Given the description of an element on the screen output the (x, y) to click on. 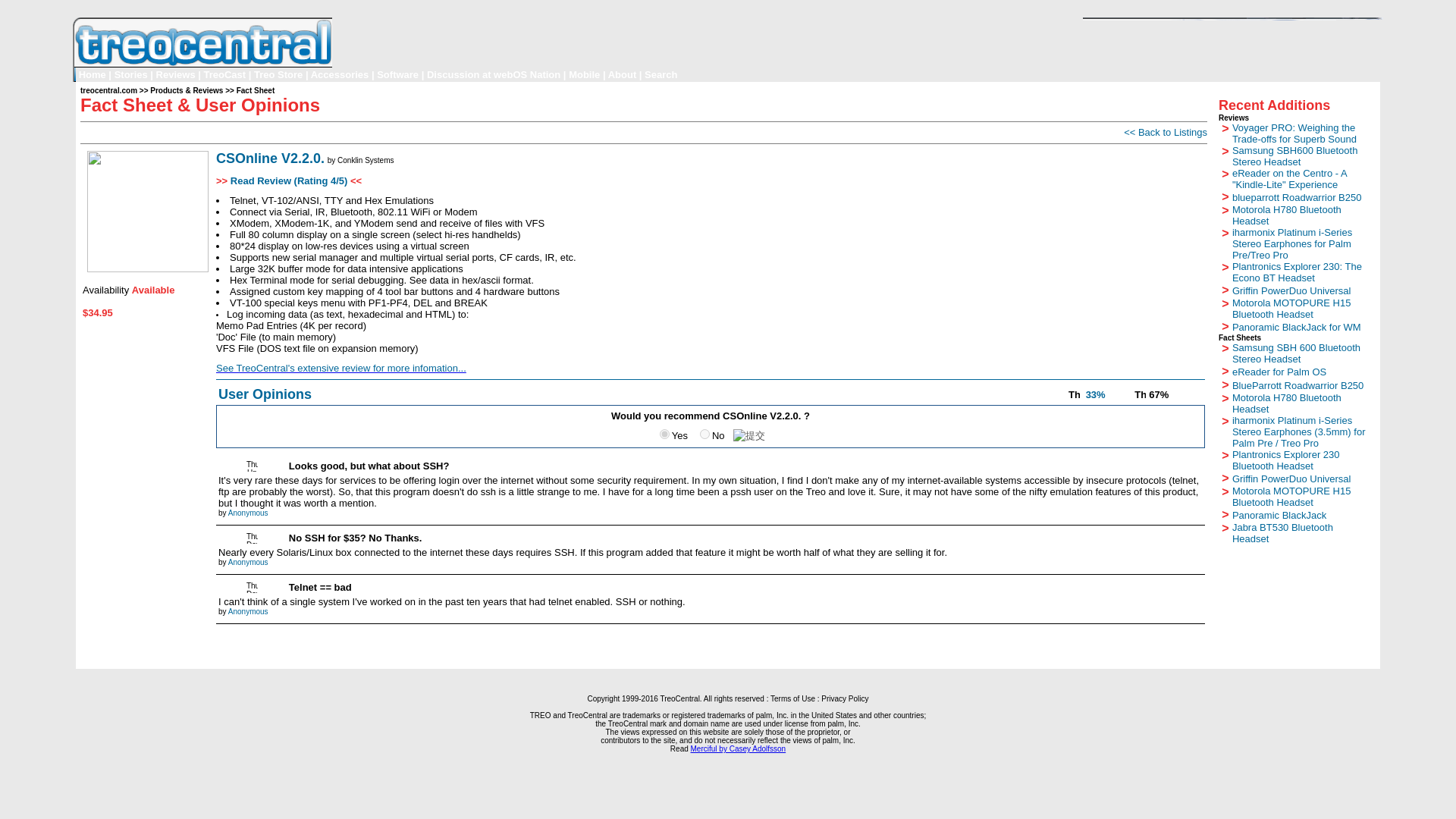
Treo Store (277, 74)
Accessories (340, 74)
Motorola H780 Bluetooth Headset (1285, 214)
Fact Sheet (255, 90)
Panoramic BlackJack for WM (1296, 326)
Anonymous (247, 511)
Voyager PRO: Weighing the Trade-offs for Superb Sound (1293, 132)
TreoCast (224, 74)
Motorola MOTOPURE H15 Bluetooth Headset (1291, 307)
Griffin PowerDuo Universal (1291, 289)
Stories (131, 74)
yes (664, 433)
treocentral.com (108, 88)
Home (92, 74)
Search (661, 74)
